Given the description of an element on the screen output the (x, y) to click on. 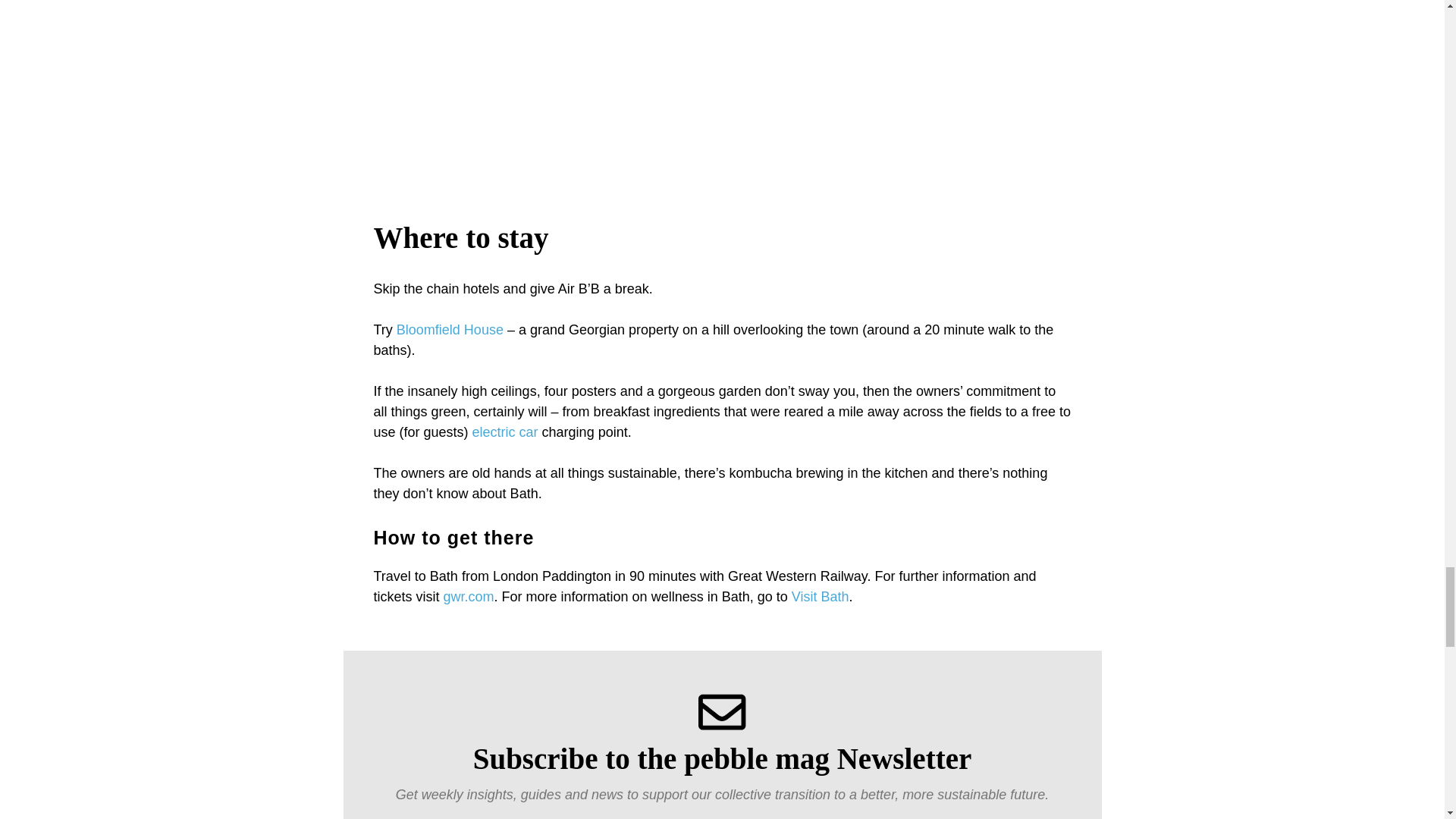
electric car  (506, 432)
Visit Bath (820, 596)
gwr.com (469, 596)
Bloomfield House (449, 329)
